Given the description of an element on the screen output the (x, y) to click on. 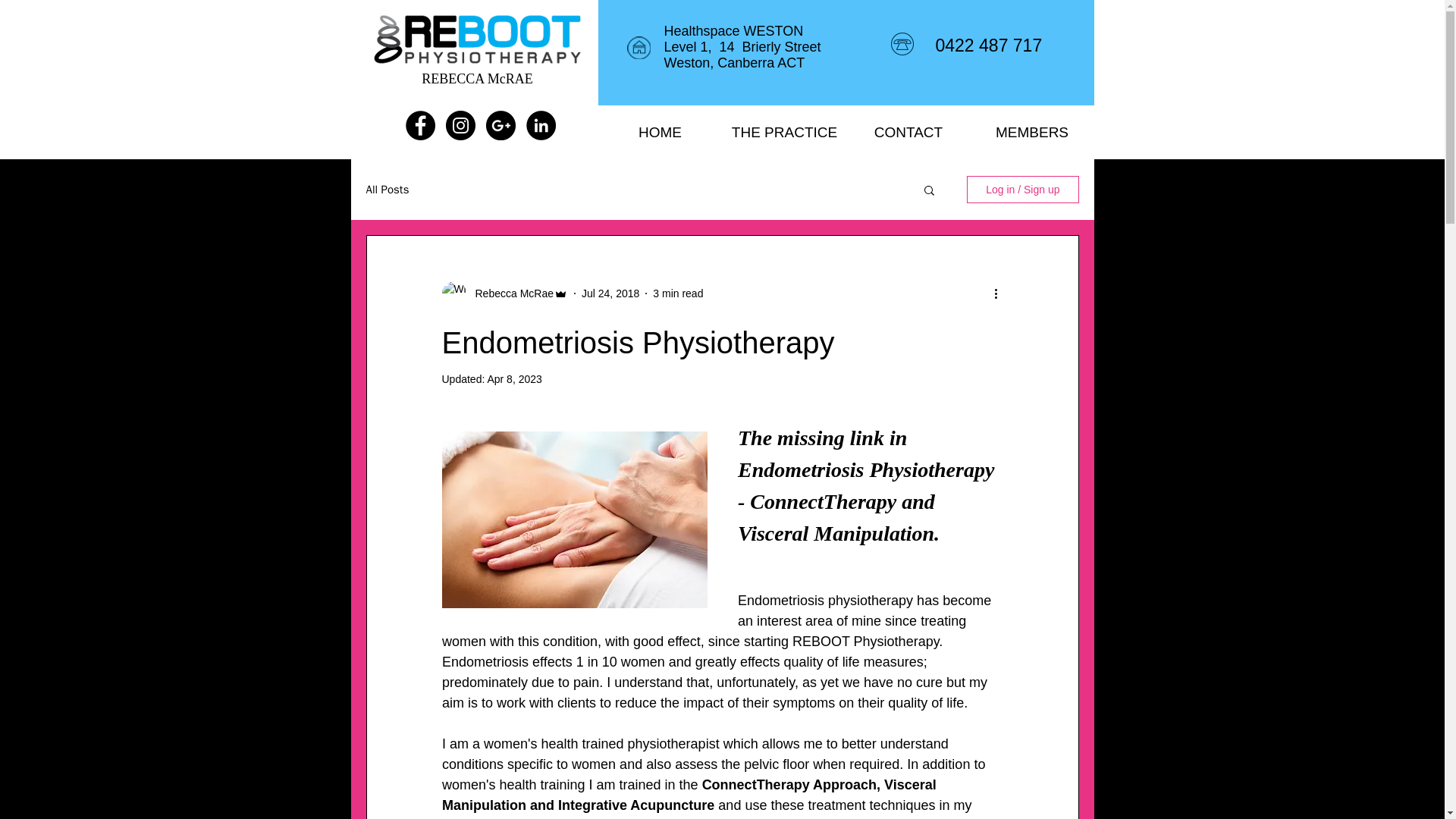
3 min read (677, 292)
THE PRACTICE (783, 131)
Apr 8, 2023 (513, 378)
Jul 24, 2018 (609, 292)
All Posts (387, 188)
CONTACT (907, 131)
Rebecca McRae (509, 293)
REBECCA McRAE (477, 78)
MEMBERS (1032, 131)
HOME (659, 131)
